Given the description of an element on the screen output the (x, y) to click on. 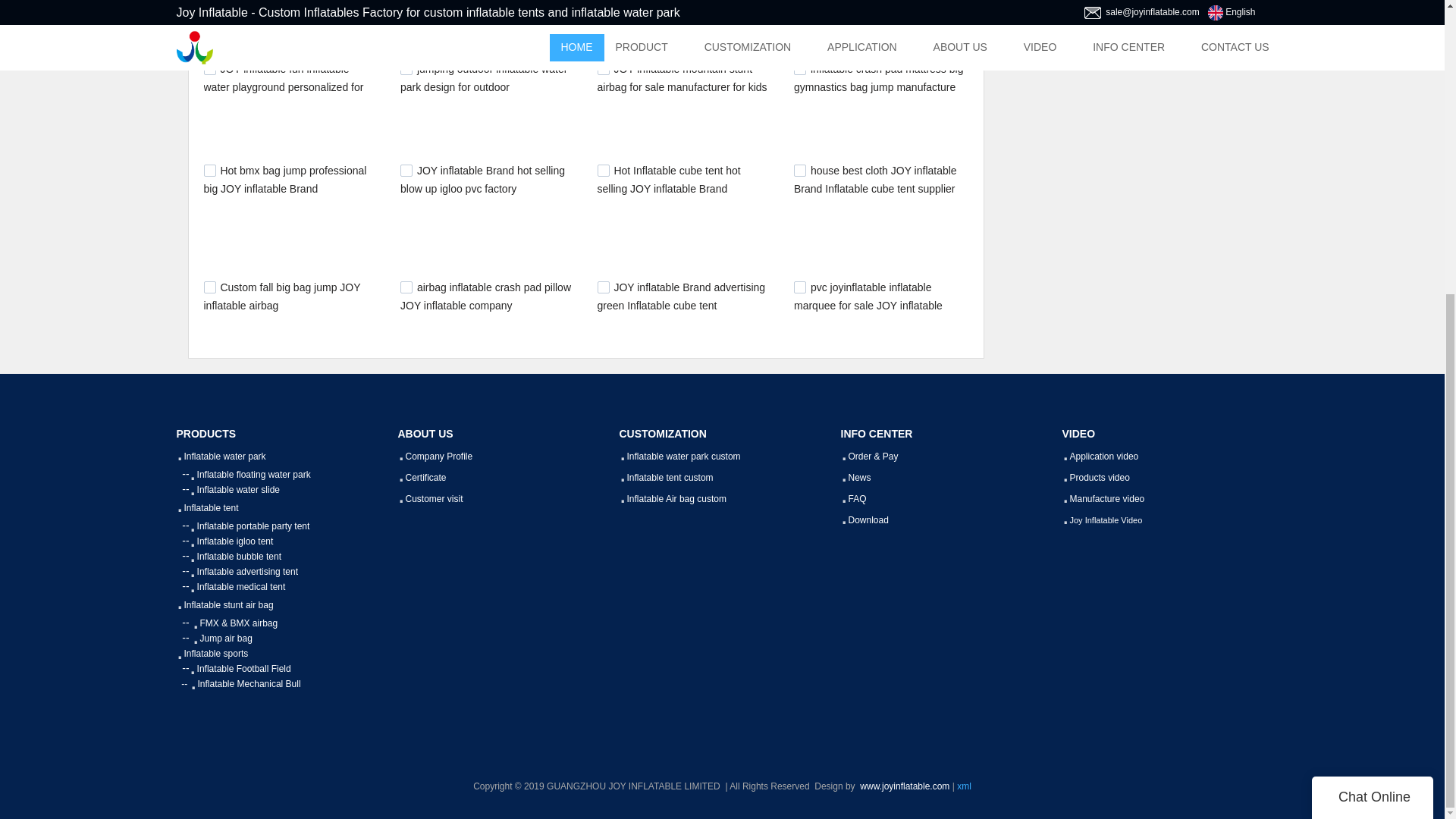
1107 (603, 287)
1266 (799, 69)
1073 (799, 287)
jumping outdoor inflatable water park design for outdoor (483, 78)
1116 (209, 287)
1224 (406, 170)
5657 (603, 69)
JOY inflatable Brand hot selling blow up igloo pvc factory (482, 179)
5659 (406, 69)
Hot bmx bag jump professional big JOY inflatable Brand (284, 179)
